Given the description of an element on the screen output the (x, y) to click on. 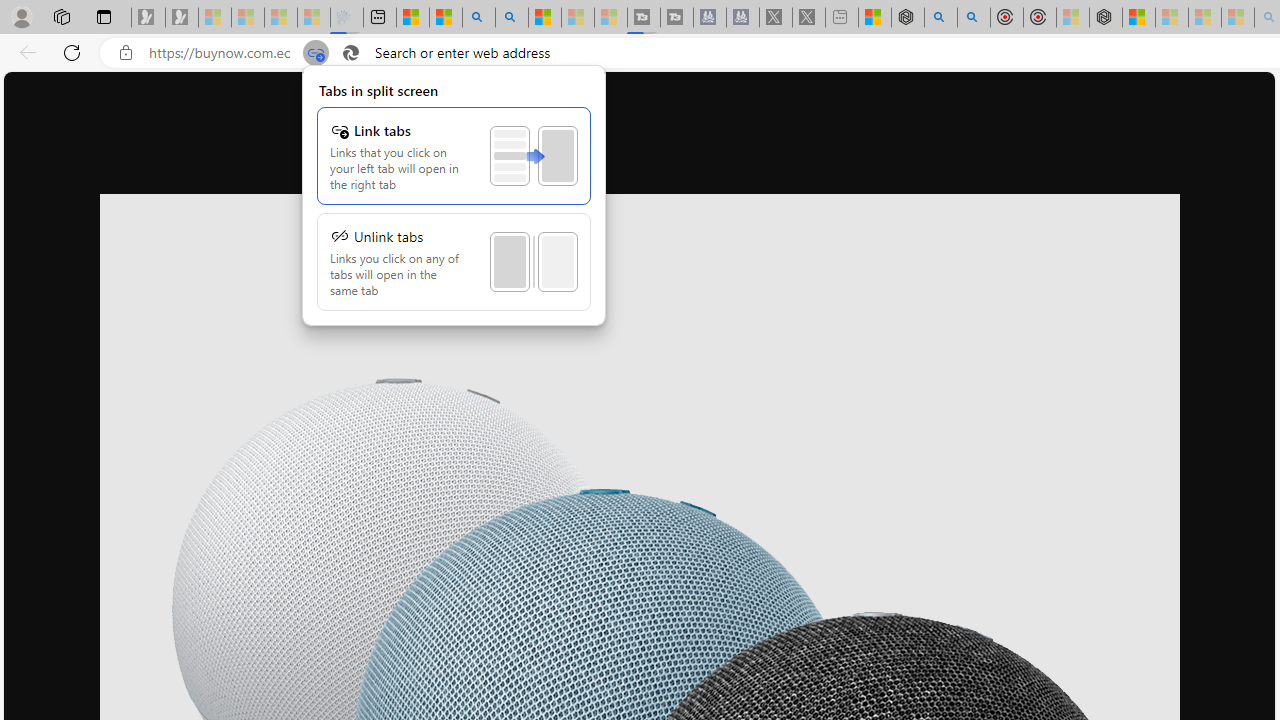
Class: MenuScrollViewContainer (453, 206)
Search icon (351, 53)
poe - Search (941, 17)
Newsletter Sign Up - Sleeping (182, 17)
